Given the description of an element on the screen output the (x, y) to click on. 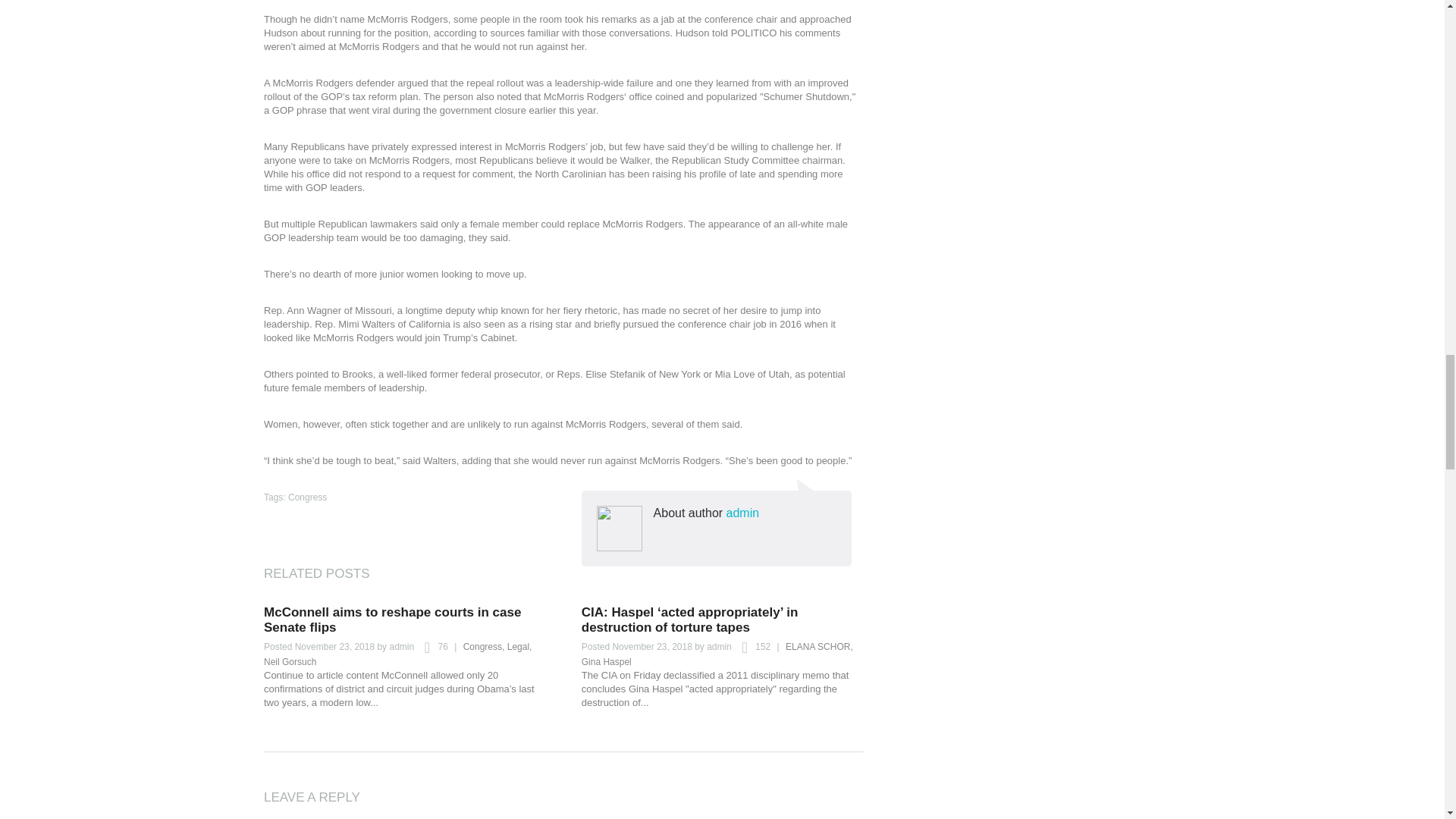
Legal, (519, 646)
November 23, 2018 (334, 646)
Views - 152 (751, 647)
152 (751, 647)
76 (431, 647)
admin (400, 646)
McConnell aims to reshape courts in case Senate flips (392, 619)
Gina Haspel (605, 662)
Views - 76 (431, 647)
admin (719, 646)
